Given the description of an element on the screen output the (x, y) to click on. 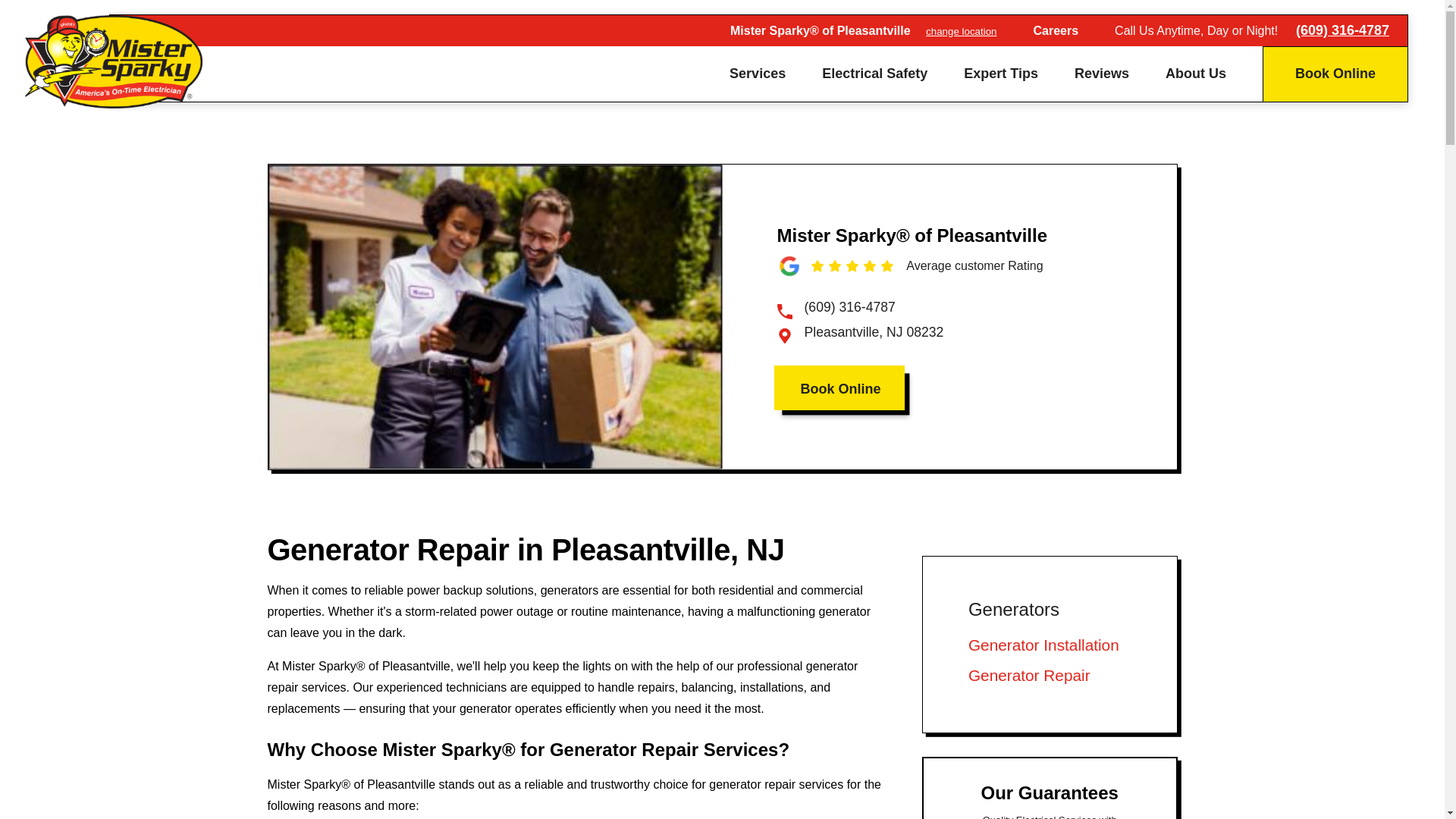
Services (757, 73)
change location (960, 30)
Careers (1055, 30)
